Given the description of an element on the screen output the (x, y) to click on. 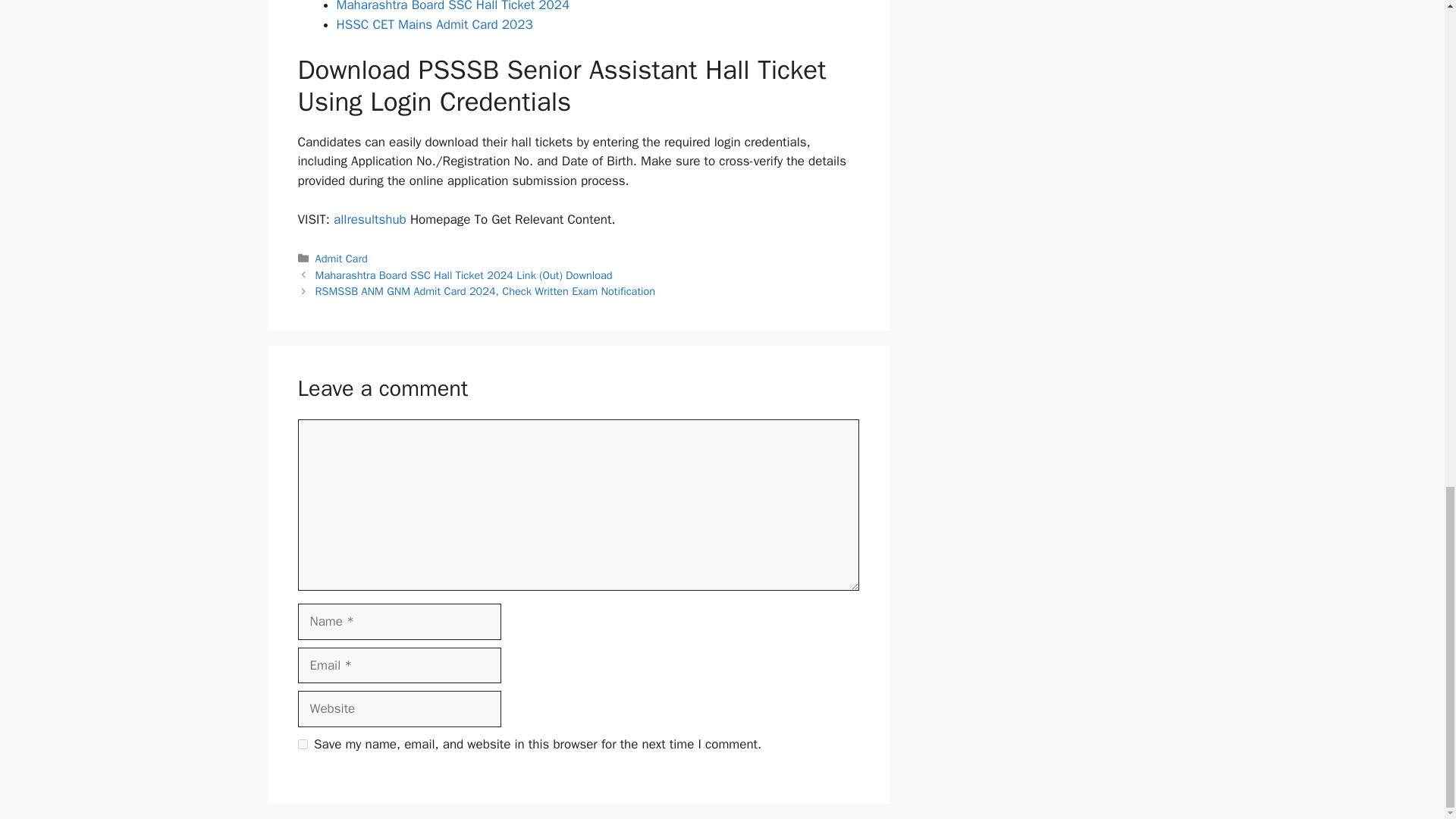
allresultshub (369, 219)
yes (302, 744)
Maharashtra Board SSC Hall Ticket 2024 (453, 6)
HSSC CET Mains Admit Card 2023 (434, 24)
Admit Card (341, 258)
